Given the description of an element on the screen output the (x, y) to click on. 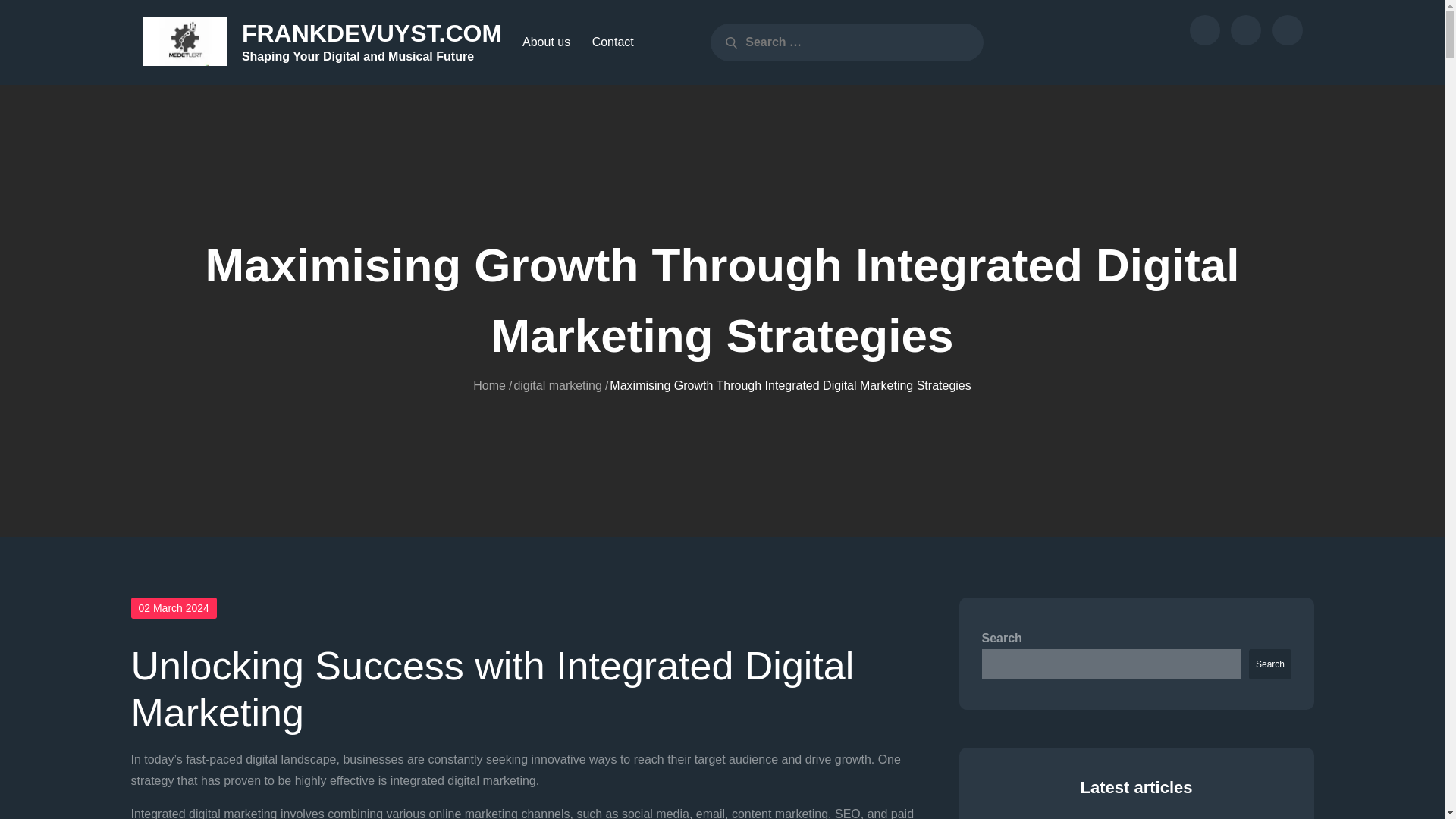
digital marketing (557, 384)
Contact (613, 42)
02 March 2024 (173, 608)
About us (1204, 30)
FRANKDEVUYST.COM (371, 32)
About us (546, 42)
Home (489, 384)
Contact (1245, 30)
